Given the description of an element on the screen output the (x, y) to click on. 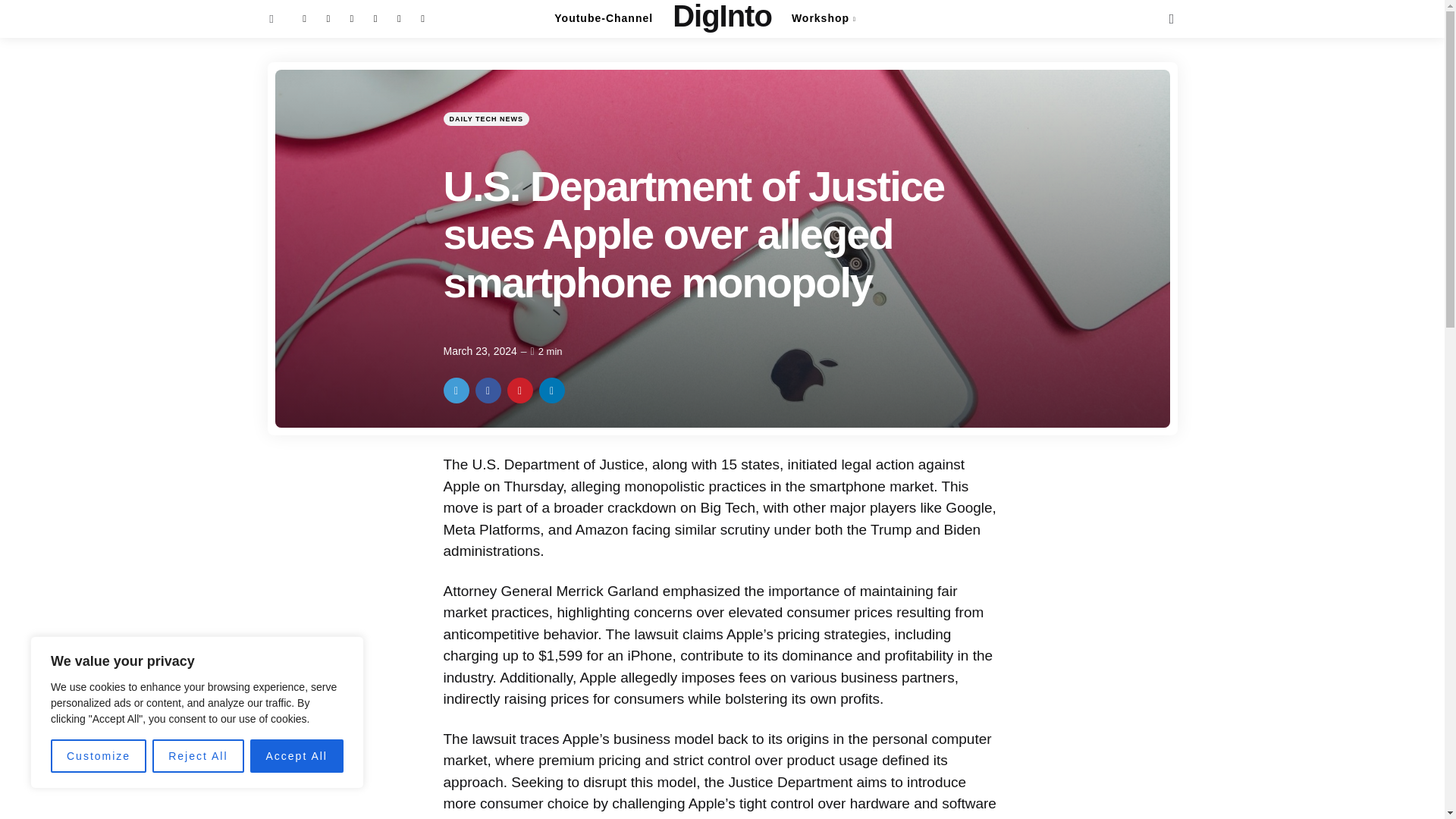
DigInto (721, 15)
Reject All (197, 756)
DAILY TECH NEWS (485, 119)
Customize (98, 756)
Youtube-Channel (603, 18)
Workshop (824, 18)
Accept All (296, 756)
